Given the description of an element on the screen output the (x, y) to click on. 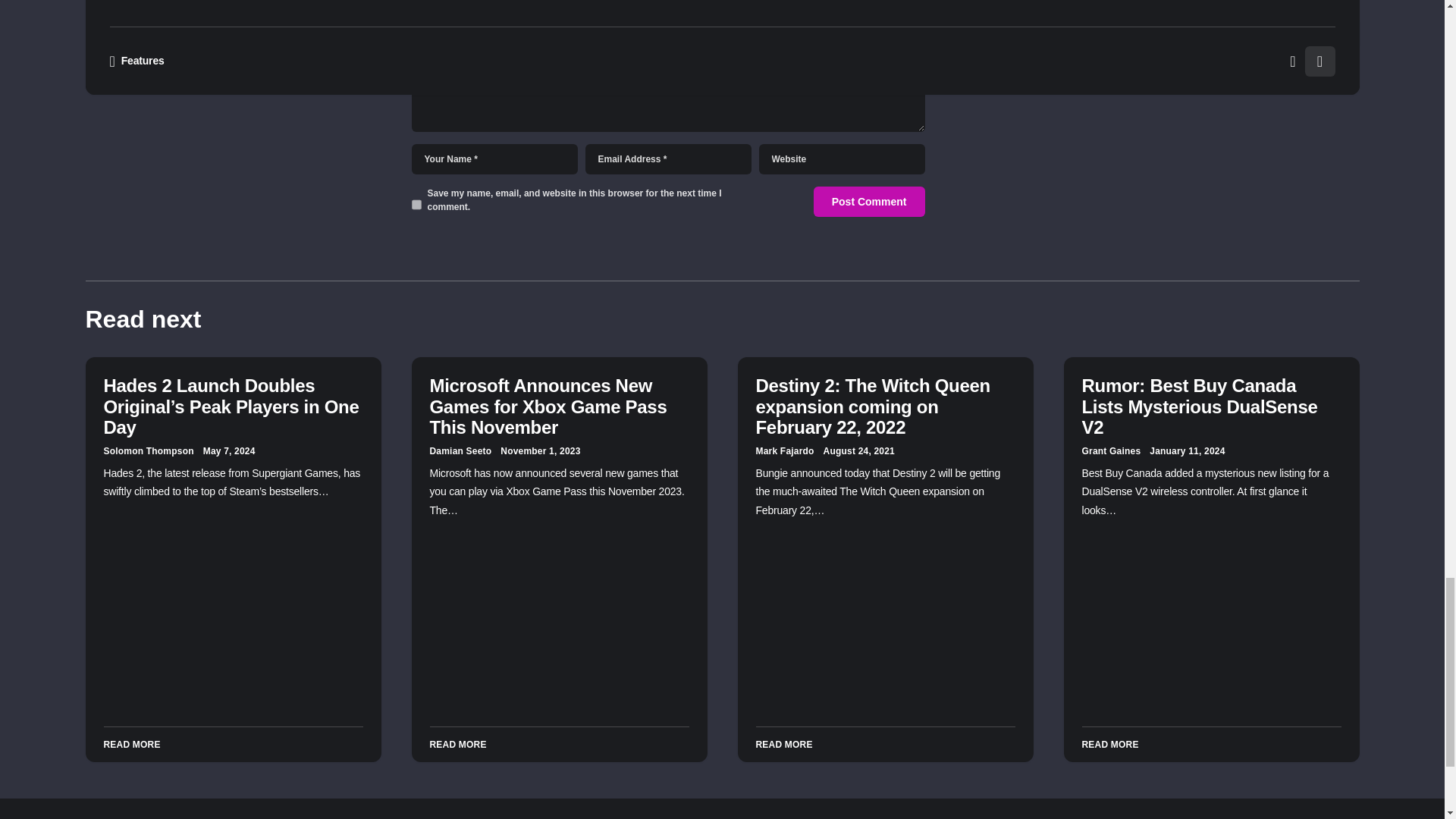
View all posts by Grant Gaines (1110, 450)
Post Comment (868, 201)
View all posts by Damian Seeto (460, 450)
View all posts by Mark Fajardo (784, 450)
View all posts by Solomon Thompson (148, 450)
